Given the description of an element on the screen output the (x, y) to click on. 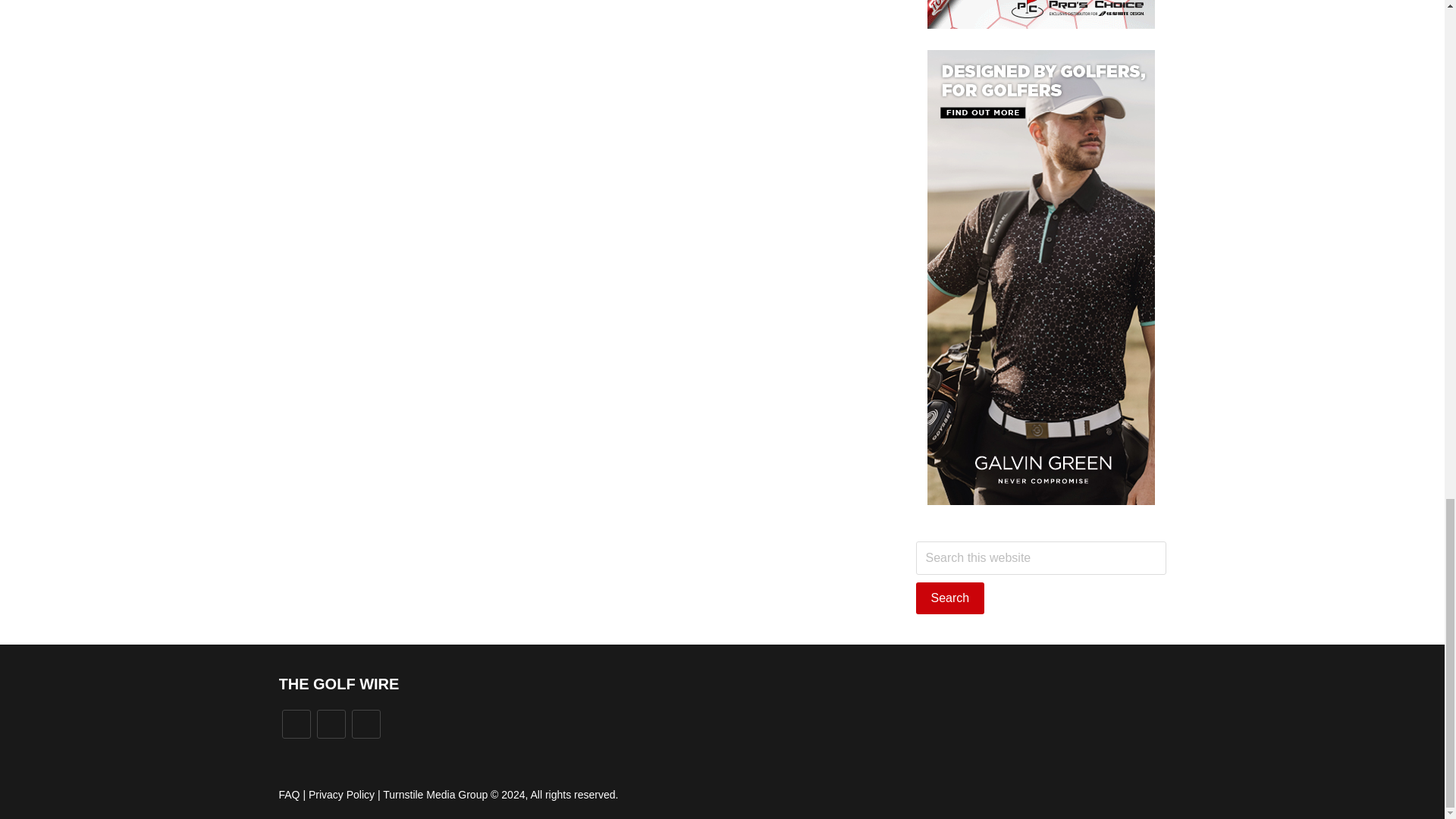
Search (950, 598)
FAQ (289, 794)
Search (950, 598)
Search (950, 598)
Privacy Policy (341, 794)
